Given the description of an element on the screen output the (x, y) to click on. 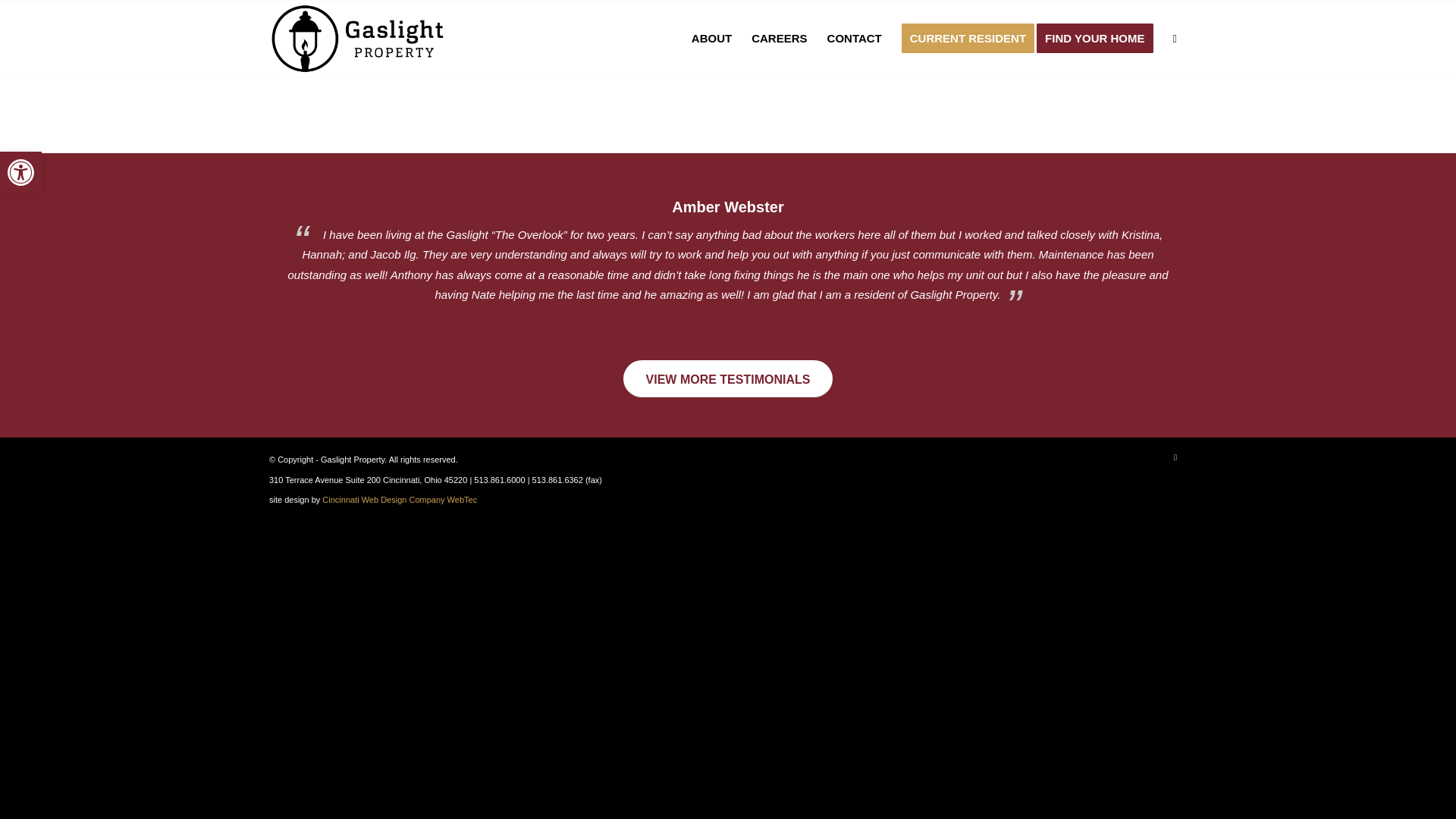
CAREERS (21, 172)
Cincinnati Web Design Company WebTec (778, 38)
Accessibility Tools (399, 499)
VIEW MORE TESTIMONIALS (21, 172)
Accessibility Tools (727, 378)
CONTACT (20, 171)
Facebook (853, 38)
FIND YOUR HOME (1174, 456)
CURRENT RESIDENT (1098, 38)
